Given the description of an element on the screen output the (x, y) to click on. 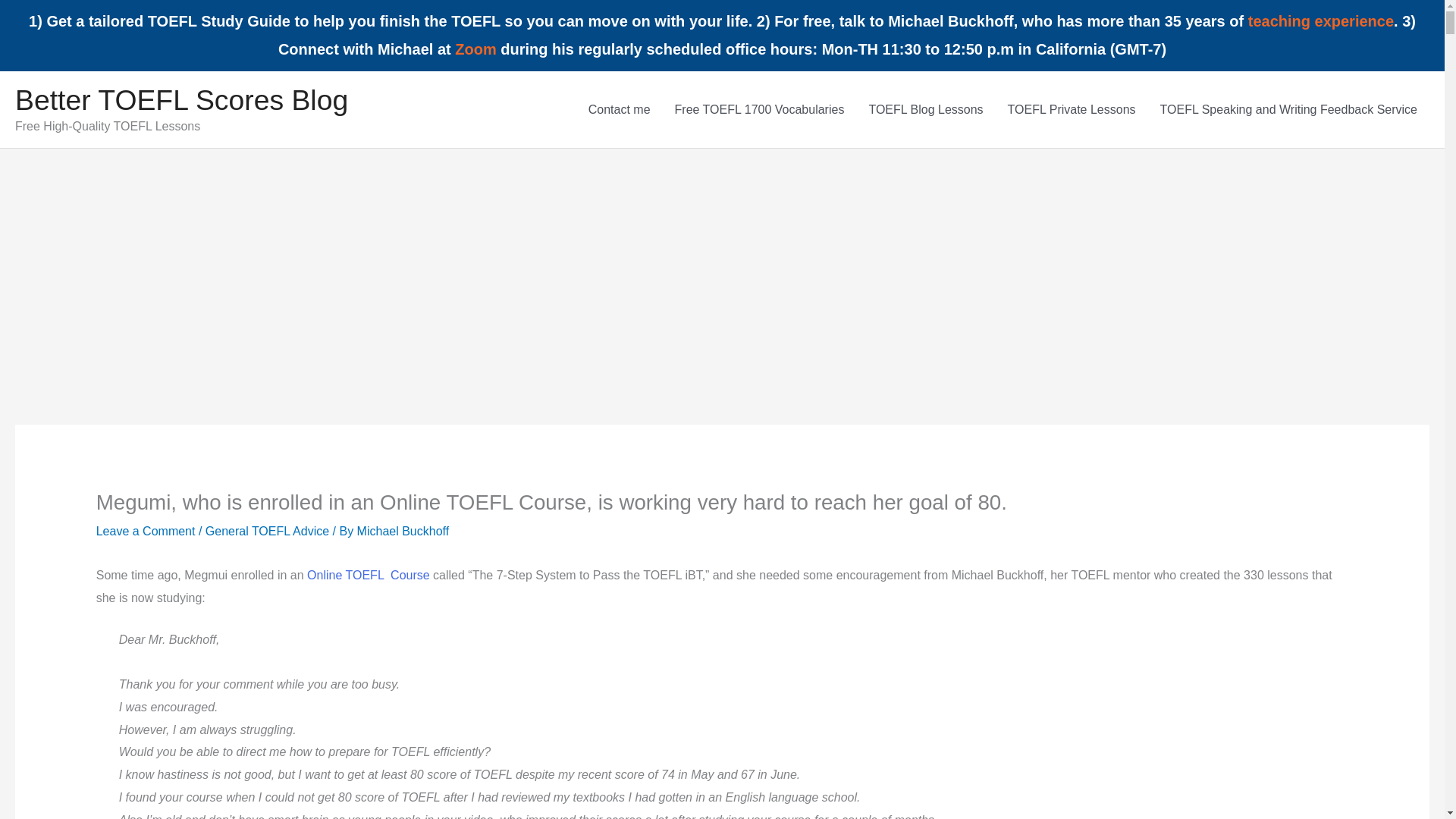
General TOEFL Advice (267, 530)
Leave a Comment (145, 530)
Free TOEFL 1700 Vocabularies (759, 109)
Zoom (475, 48)
Michael Buckhoff (402, 530)
teaching experience (1320, 21)
Online TOEFL  Course (368, 574)
View all posts by Michael Buckhoff (402, 530)
Better TOEFL Scores Blog (180, 100)
TOEFL Speaking and Writing Feedback Service (1288, 109)
TOEFL Private Lessons (1071, 109)
Contact me (619, 109)
TOEFL Blog Lessons (925, 109)
